Given the description of an element on the screen output the (x, y) to click on. 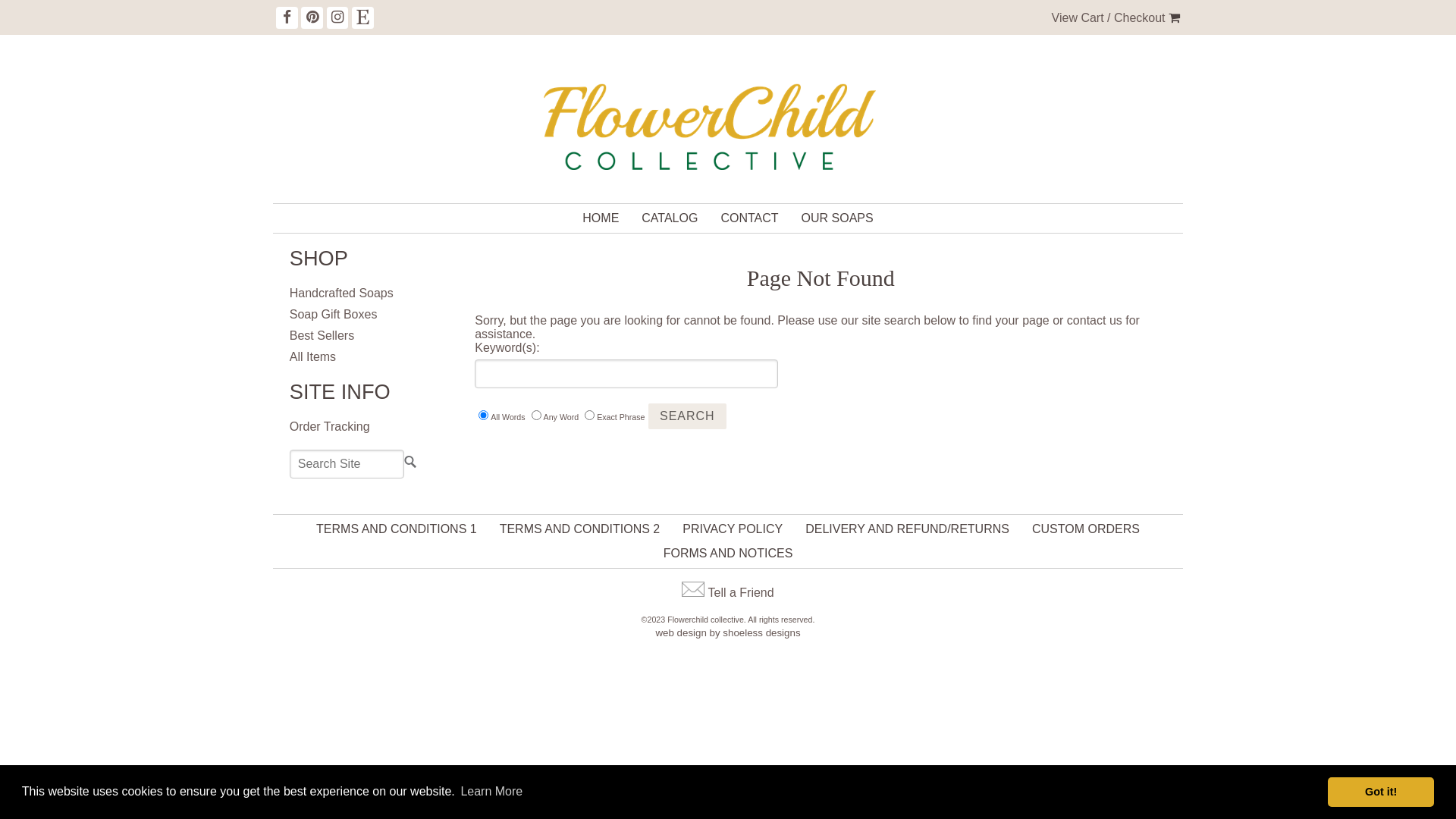
DELIVERY AND REFUND/RETURNS Element type: text (907, 528)
PRIVACY POLICY Element type: text (732, 528)
View Cart / Checkout Element type: text (1108, 17)
FORMS AND NOTICES Element type: text (728, 552)
Got it! Element type: text (1380, 791)
Learn More Element type: text (491, 791)
HOME Element type: text (600, 217)
Best Sellers Element type: text (321, 335)
Soap Gift Boxes Element type: text (333, 314)
OUR SOAPS Element type: text (837, 217)
Handcrafted Soaps Element type: text (341, 293)
shoeless designs Element type: text (761, 632)
Search Element type: text (687, 416)
CATALOG Element type: text (669, 217)
TERMS AND CONDITIONS 1 Element type: text (396, 528)
Tell a Friend Element type: text (741, 592)
CUSTOM ORDERS Element type: text (1085, 528)
All Items Element type: text (312, 357)
Order Tracking Element type: text (329, 426)
TERMS AND CONDITIONS 2 Element type: text (579, 528)
CONTACT Element type: text (749, 217)
